Given the description of an element on the screen output the (x, y) to click on. 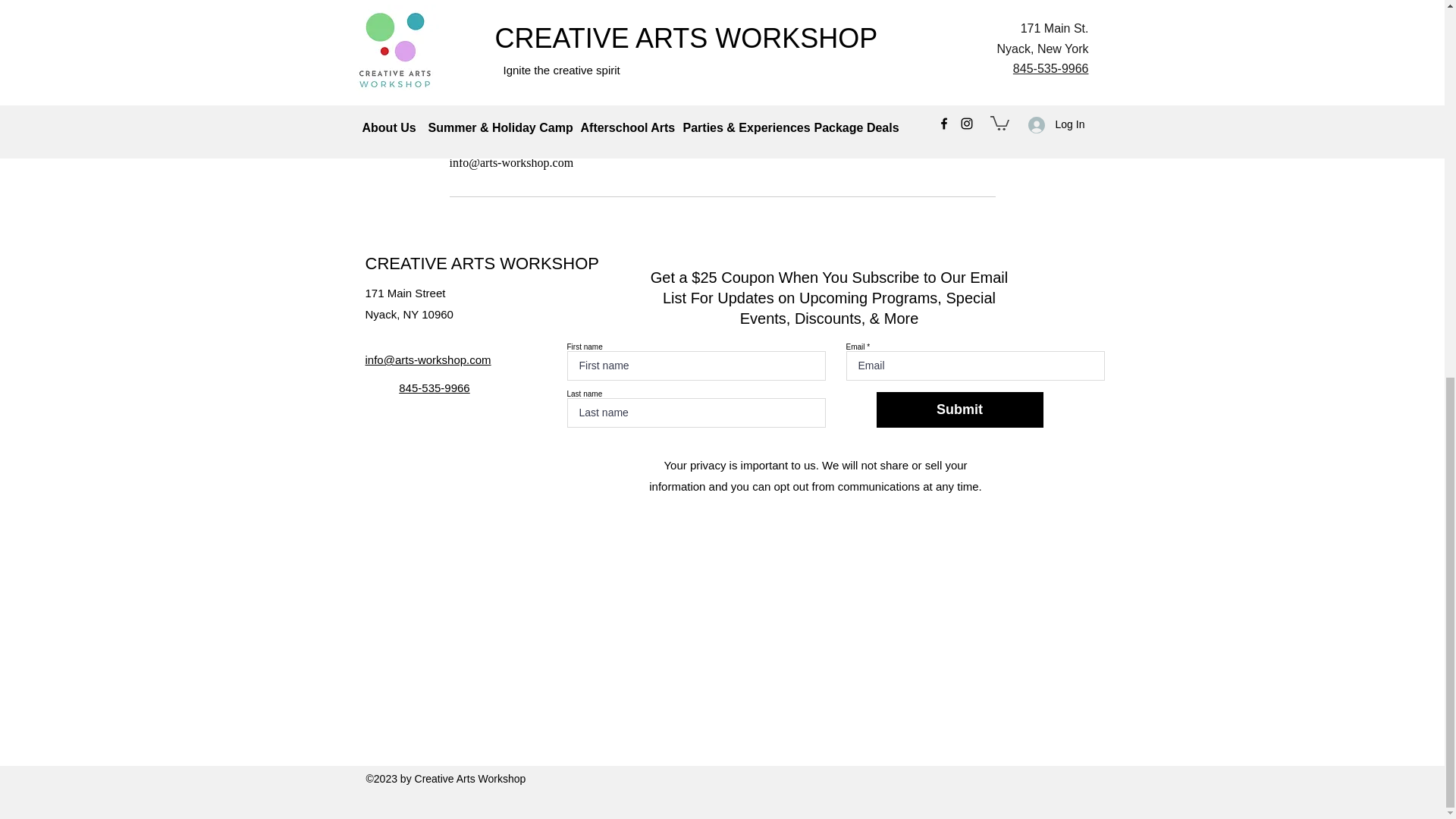
845-535-9966 (433, 387)
Submit (959, 409)
